Given the description of an element on the screen output the (x, y) to click on. 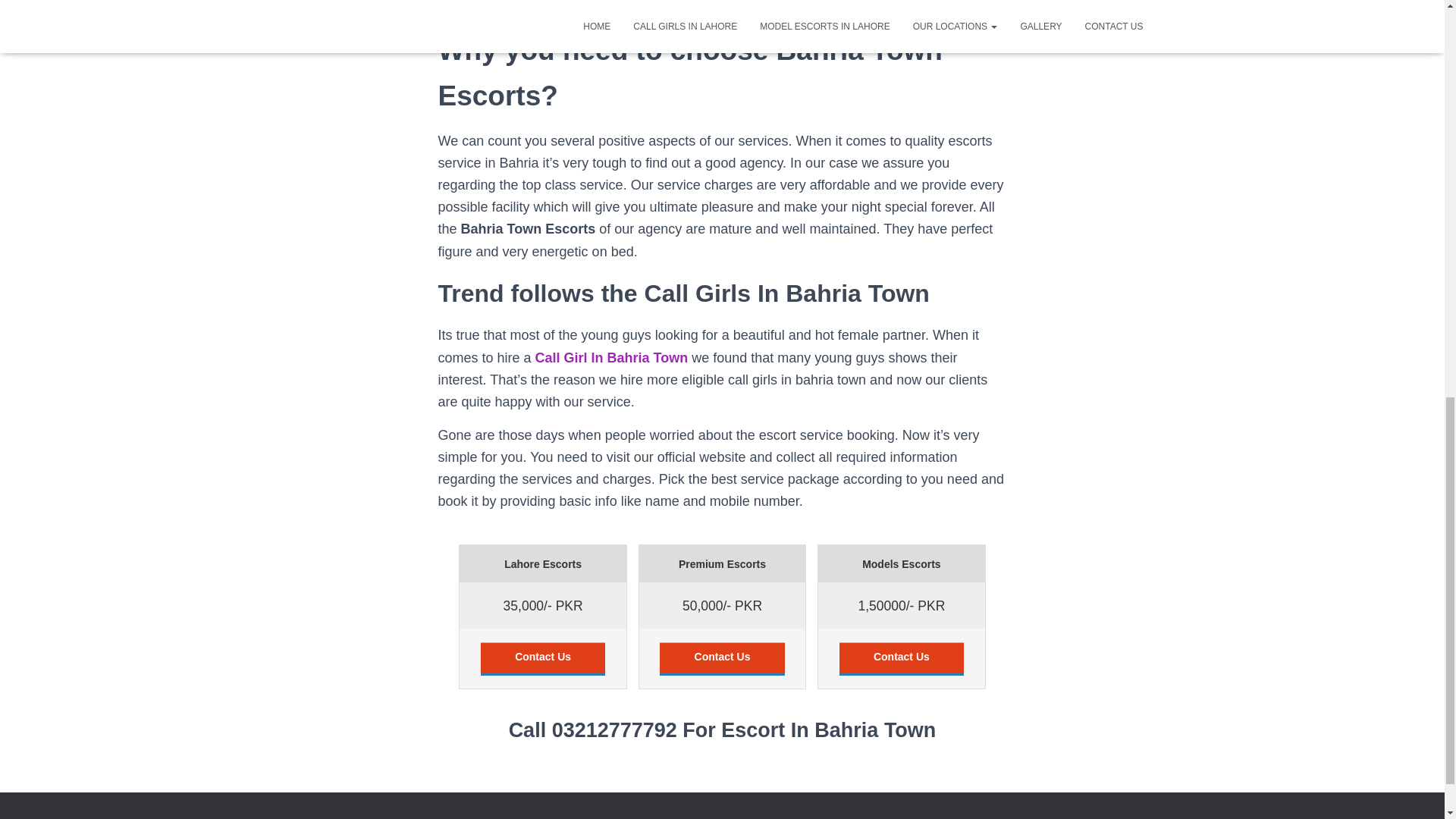
Contact Us (901, 658)
Call Girl In Bahria Town (611, 357)
Contact Us (721, 658)
Contact Us (542, 658)
HOME (314, 816)
OUR LOCATIONS (676, 816)
CALL GIRLS IN LAHORE (405, 816)
CONTACT US (836, 816)
MODEL ESCORTS IN LAHORE (547, 816)
GALLERY (761, 816)
